Given the description of an element on the screen output the (x, y) to click on. 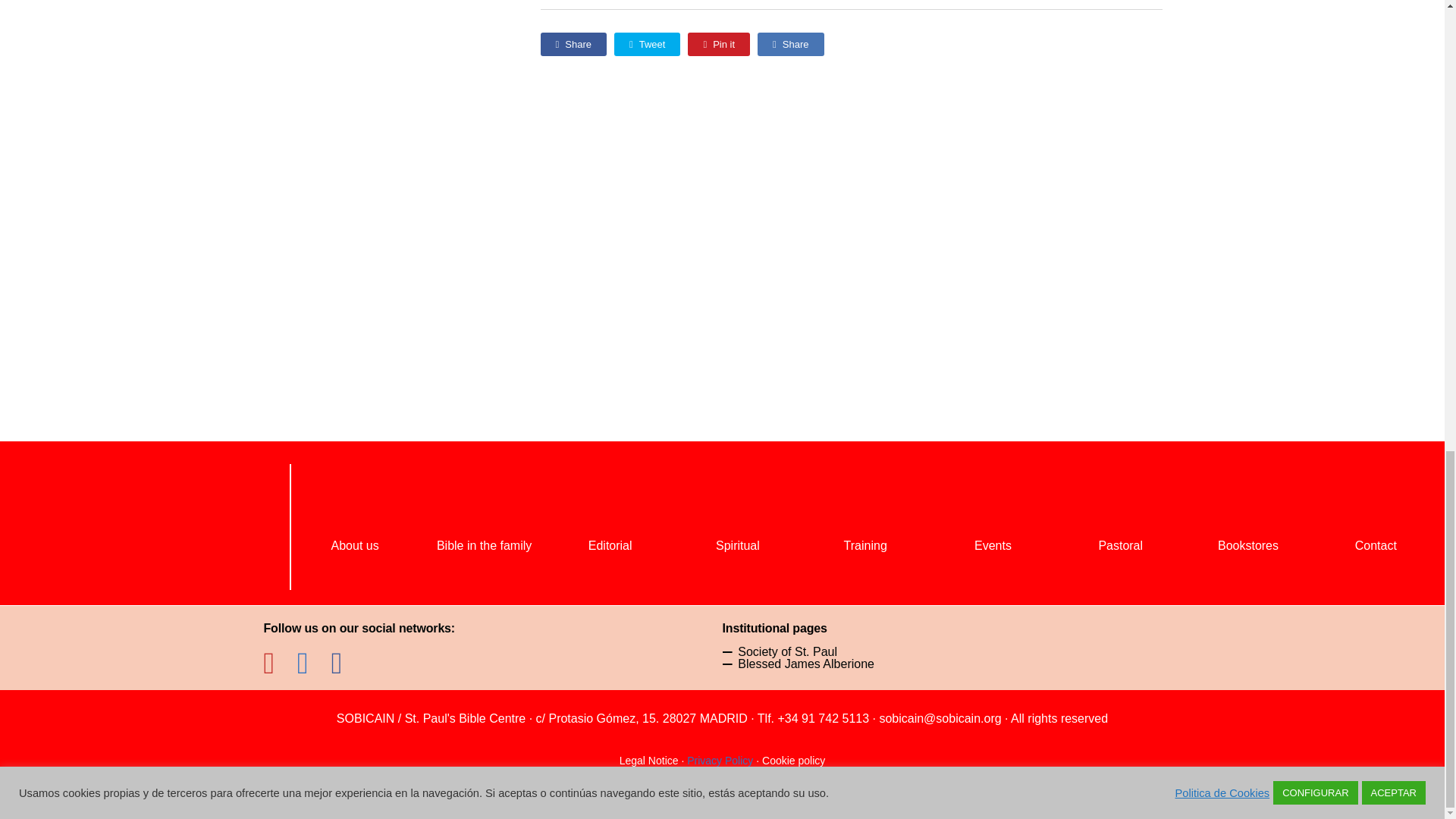
Tweet (646, 44)
Share (572, 44)
Share (790, 44)
Pin it (718, 44)
